Given the description of an element on the screen output the (x, y) to click on. 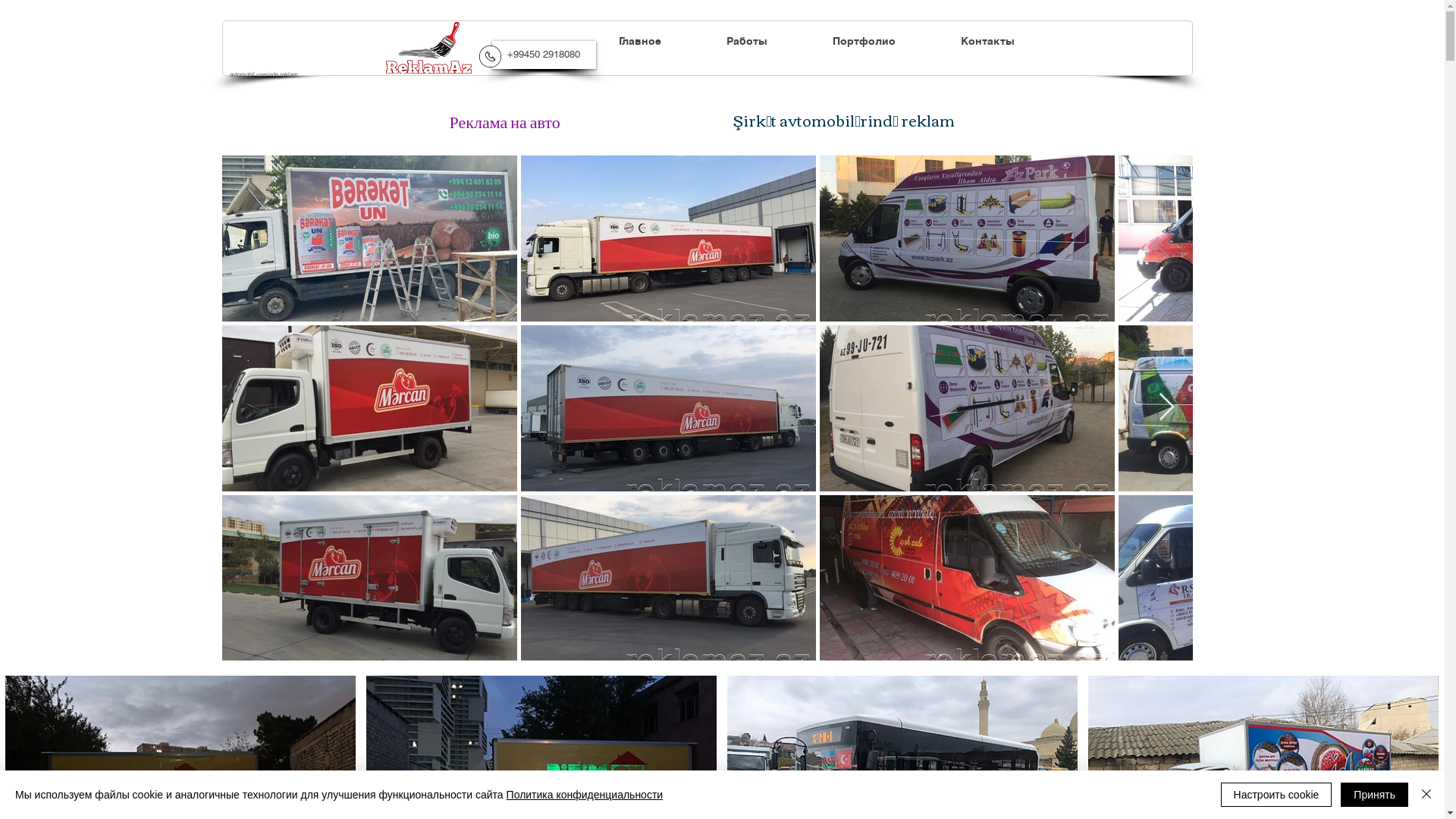
+99450 2918080 Element type: text (543, 54)
Reklam agentliyi Element type: hover (427, 47)
Embedded Content Element type: hover (930, 125)
